Given the description of an element on the screen output the (x, y) to click on. 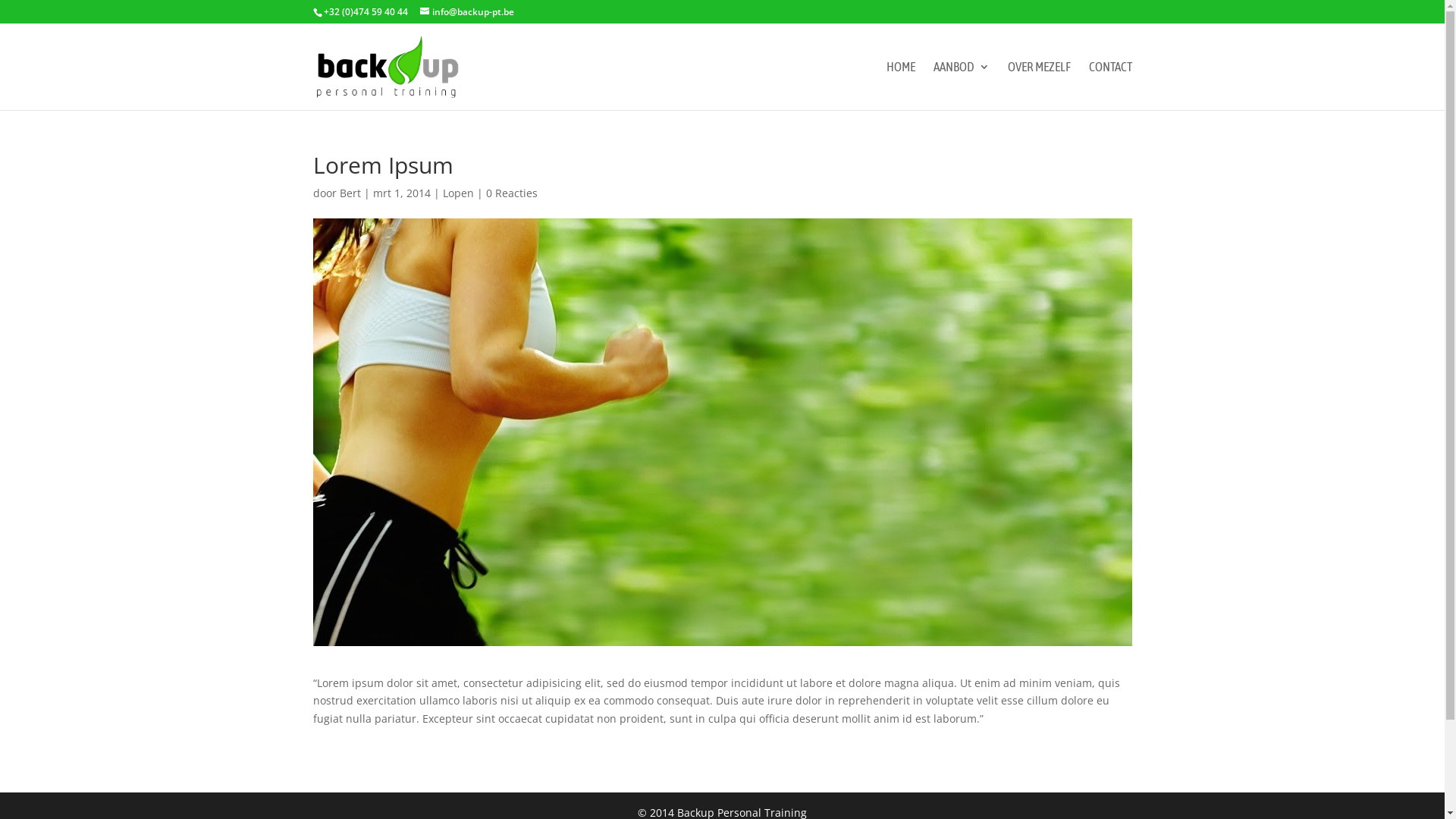
HOME Element type: text (899, 85)
CONTACT Element type: text (1110, 85)
Lopen Element type: text (457, 192)
0 Reacties Element type: text (510, 192)
info@backup-pt.be Element type: text (467, 11)
AANBOD Element type: text (960, 85)
OVER MEZELF Element type: text (1038, 85)
Bert Element type: text (349, 192)
